Given the description of an element on the screen output the (x, y) to click on. 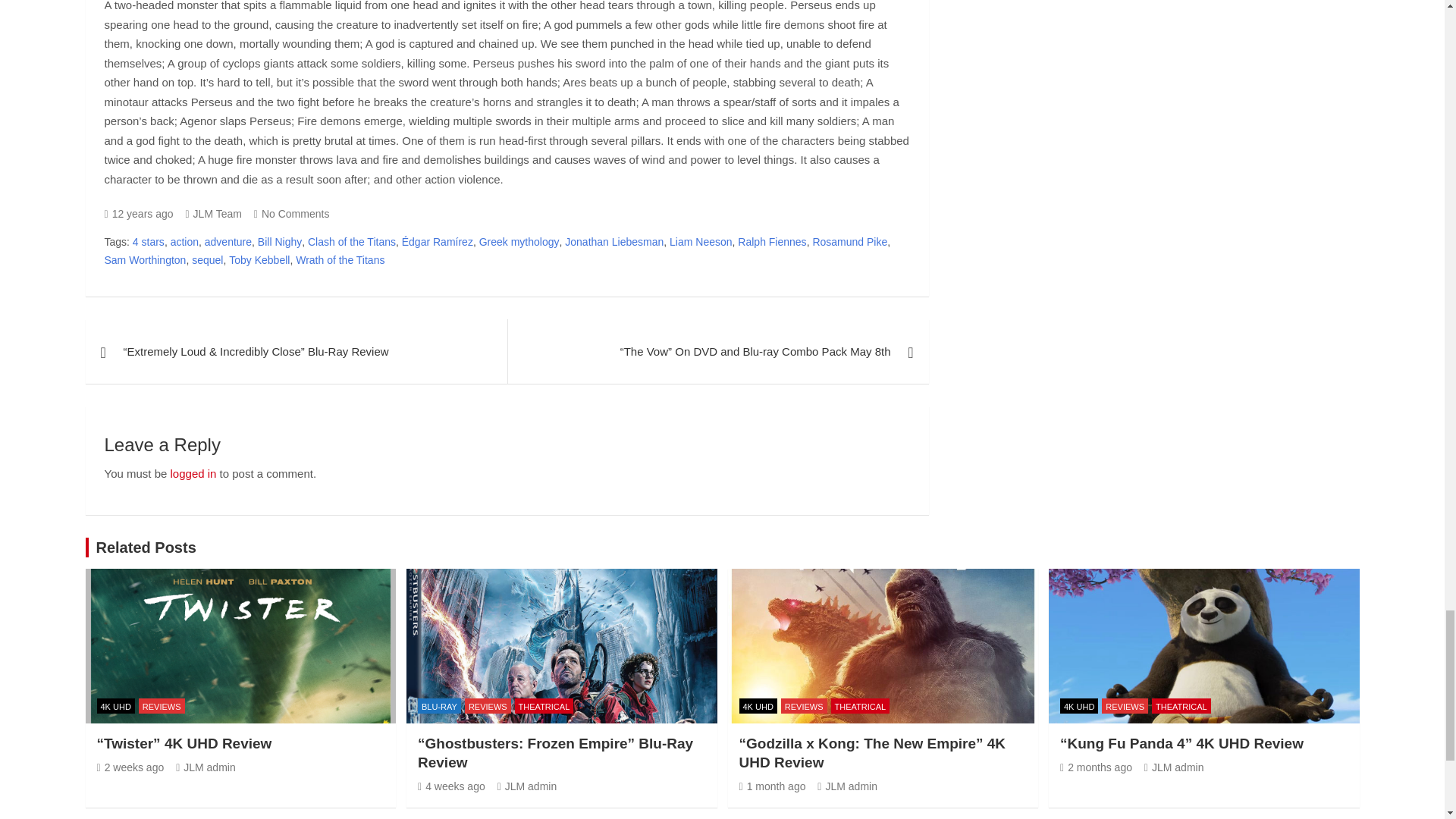
sequel (207, 260)
12 years ago (138, 214)
Sam Worthington (145, 260)
Liam Neeson (700, 242)
12 years ago (138, 214)
4 stars (148, 242)
Greek mythology (519, 242)
logged in (193, 472)
1 month ago (771, 786)
4 weeks ago (450, 786)
JLM Team (212, 214)
2 months ago (1095, 767)
Toby Kebbell (258, 260)
2 weeks ago (130, 767)
action (184, 242)
